Given the description of an element on the screen output the (x, y) to click on. 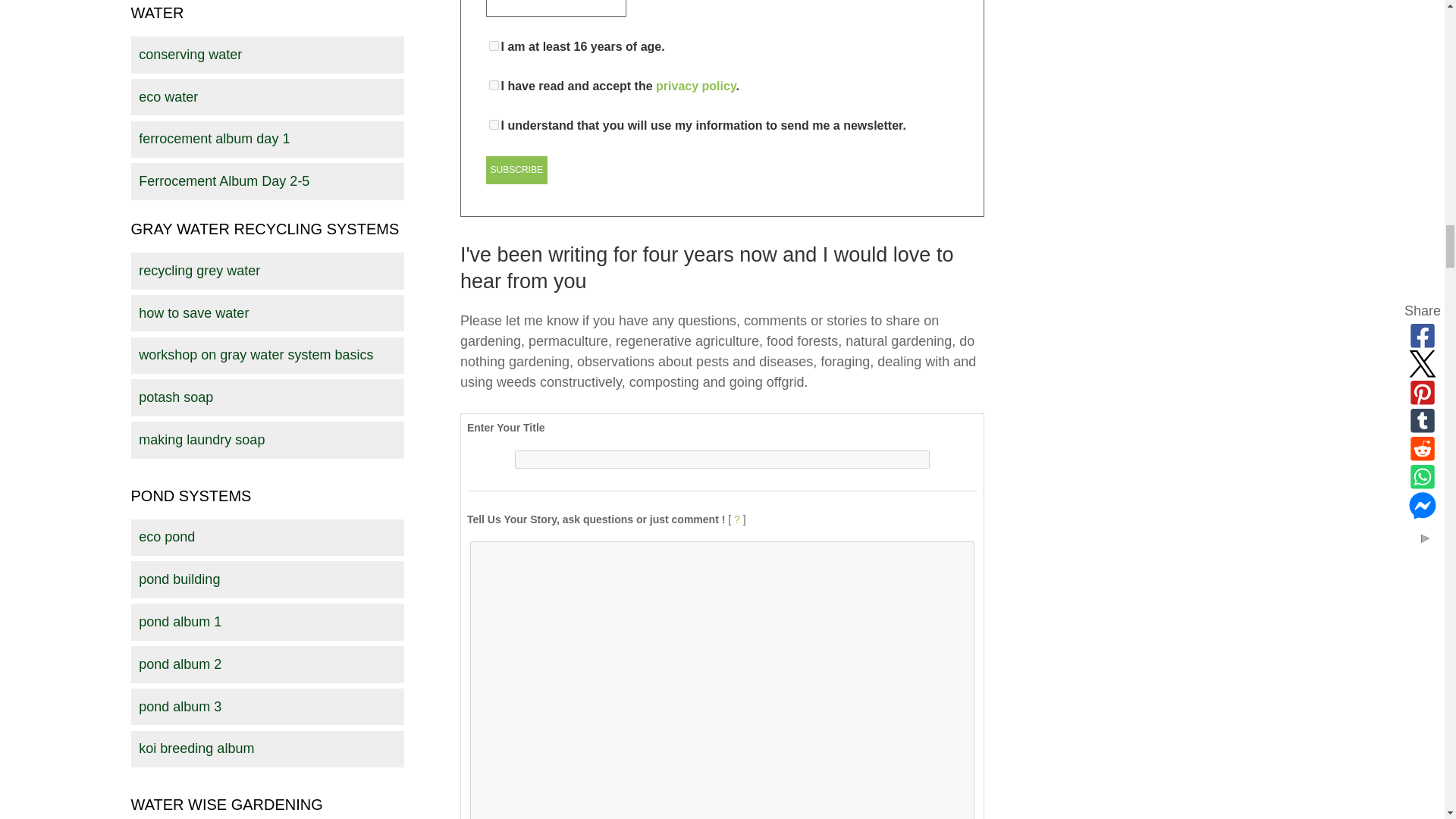
on (494, 124)
on (494, 85)
on (494, 45)
